Given the description of an element on the screen output the (x, y) to click on. 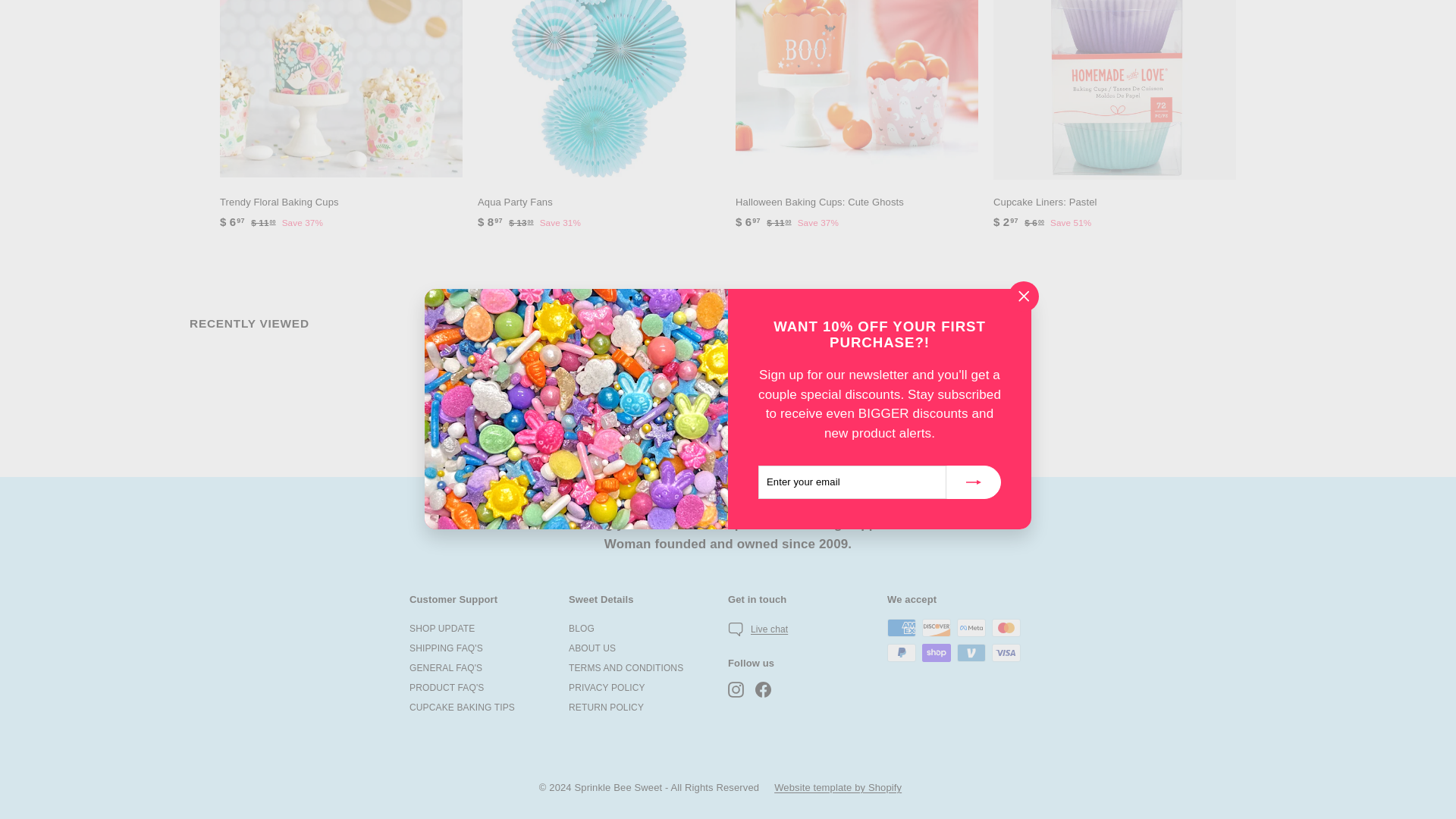
Mastercard (1005, 628)
PayPal (900, 652)
Meta Pay (970, 628)
American Express (900, 628)
Venmo (970, 652)
Visa (1005, 652)
Shop Pay (935, 652)
Discover (935, 628)
